Given the description of an element on the screen output the (x, y) to click on. 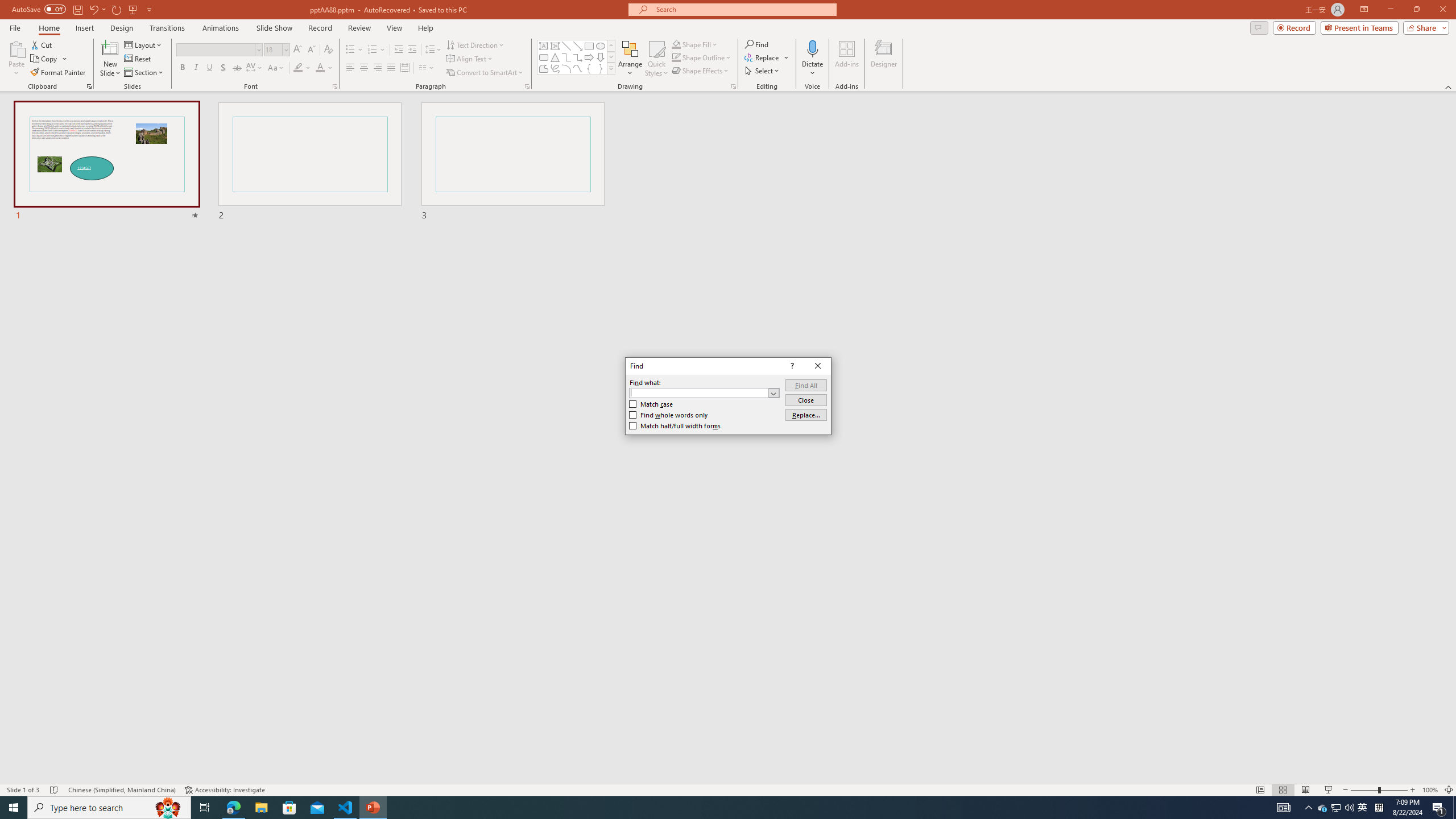
Shape Fill Aqua, Accent 2 (675, 44)
